Given the description of an element on the screen output the (x, y) to click on. 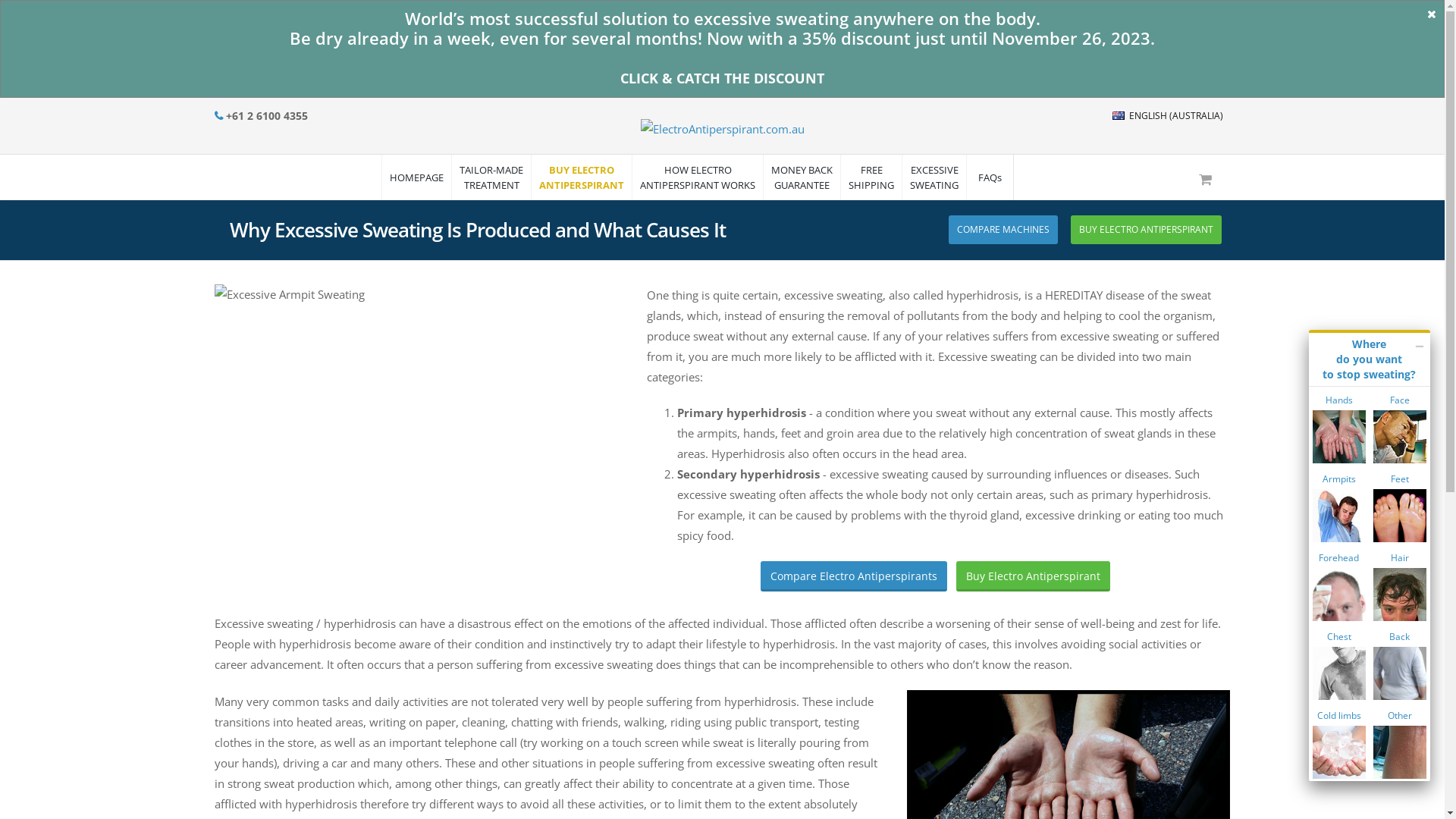
ENGLISH (AUSTRALIA) Element type: text (1167, 115)
TAILOR-MADE
TREATMENT Element type: text (490, 177)
Compare Electro Antiperspirants Element type: text (853, 576)
FREE
SHIPPING Element type: text (870, 177)
COMPARE
MACHINES Element type: text (1002, 229)
FAQs Element type: text (989, 177)
HOW ELECTRO
ANTIPERSPIRANT WORKS Element type: text (696, 177)
MONEY BACK
GUARANTEE Element type: text (801, 177)
EXCESSIVE
SWEATING Element type: text (933, 177)
BUY ELECTRO
ANTIPERSPIRANT Element type: text (1145, 229)
Buy Electro Antiperspirant Element type: text (1033, 576)
HOMEPAGE Element type: text (416, 177)
BUY ELECTRO
ANTIPERSPIRANT Element type: text (580, 177)
